Given the description of an element on the screen output the (x, y) to click on. 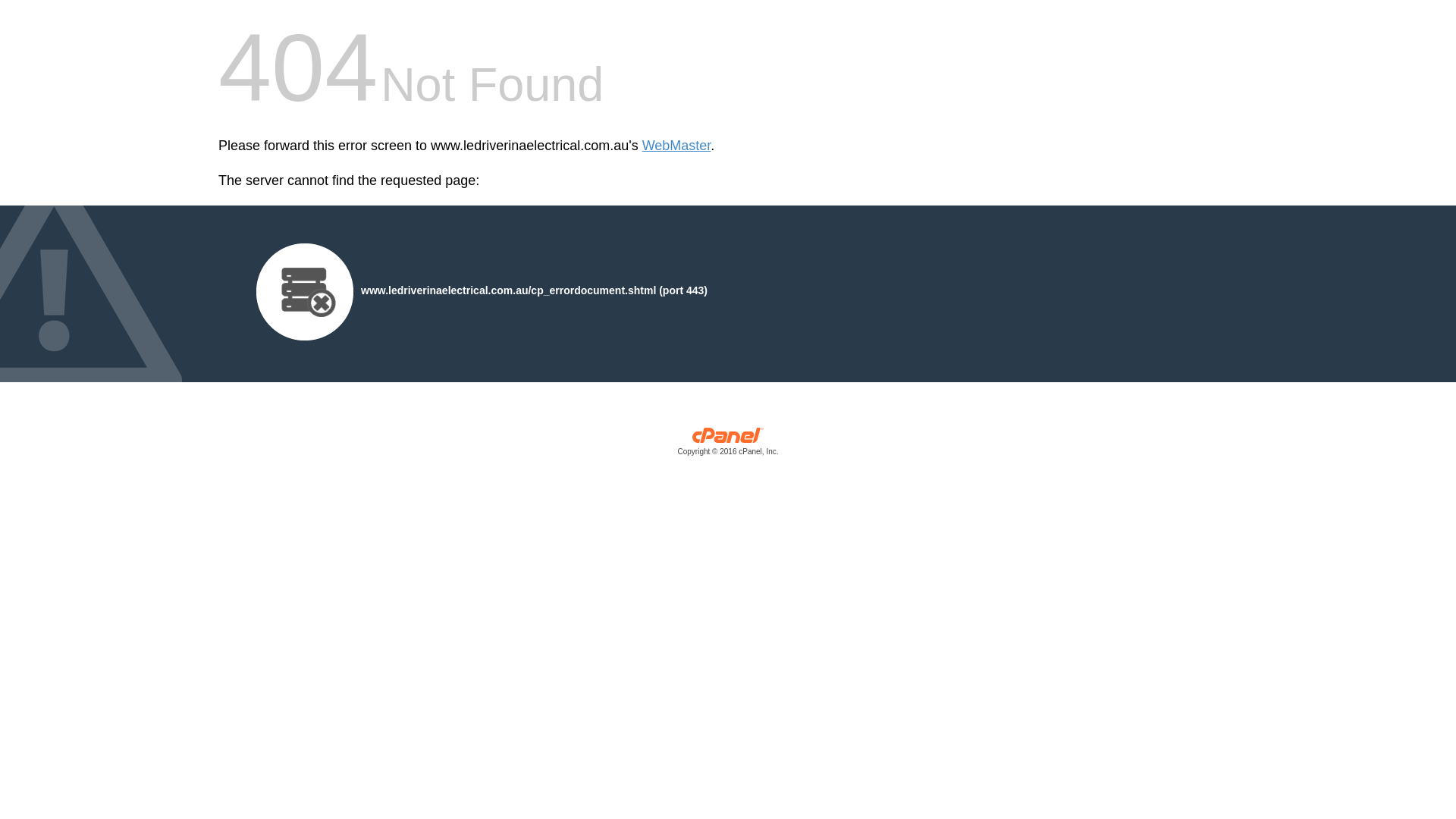
WebMaster Element type: text (676, 145)
